Given the description of an element on the screen output the (x, y) to click on. 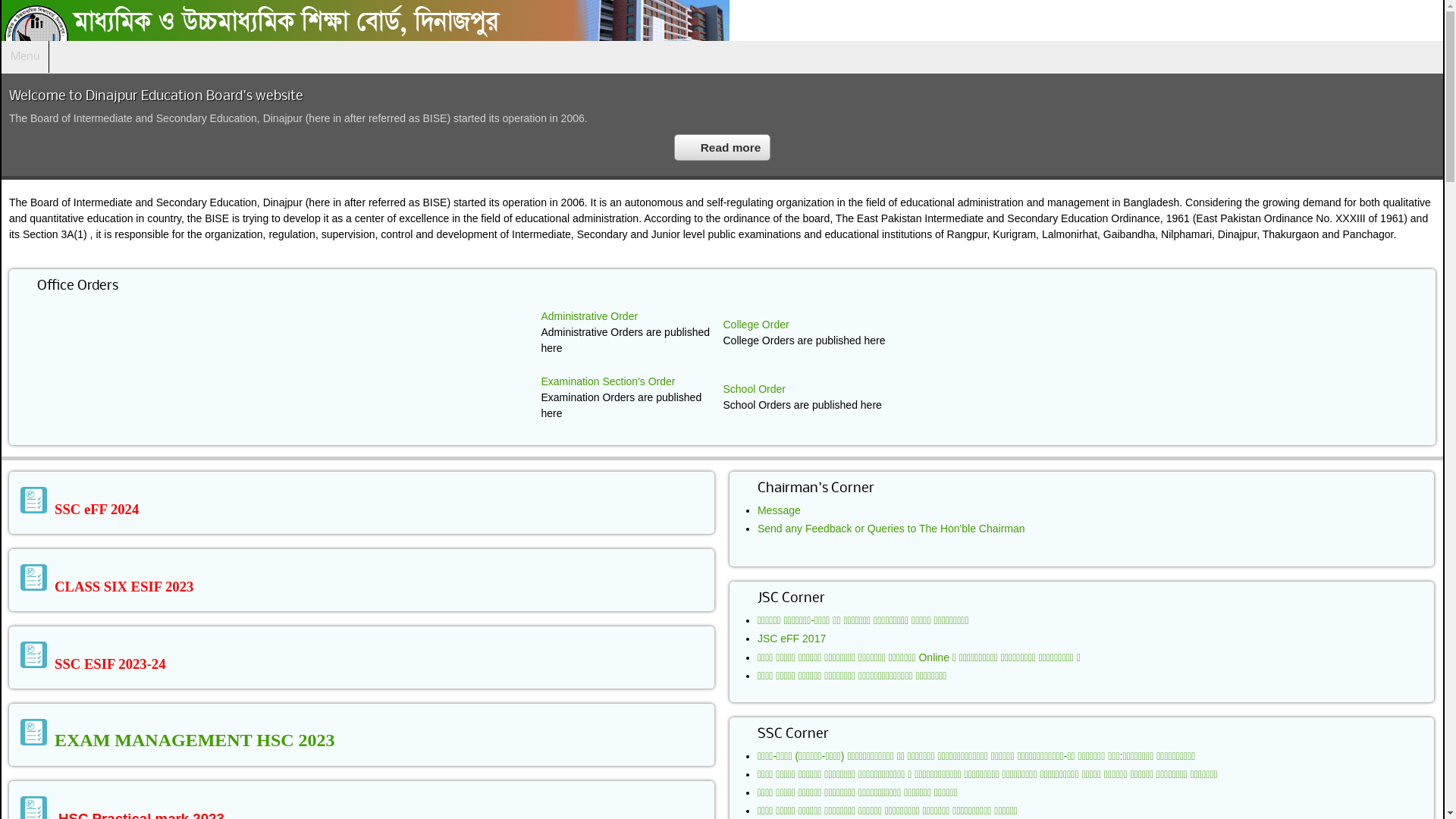
Read more Element type: text (722, 147)
Examination Section's Order Element type: text (608, 381)
              SSC eFF 2024 Element type: text (79, 510)
School Order Element type: text (754, 388)
Send any Feedback or Queries to The Hon'ble Chairman Element type: text (891, 528)
JSC eFF 2017 Element type: text (791, 638)
Message Element type: text (778, 510)
College Order Element type: text (756, 324)
              CLASS SIX ESIF 2023 Element type: text (106, 587)
Administrative Order Element type: text (589, 316)
              SSC ESIF 2023-24 Element type: text (93, 664)
              EXAM MANAGEMENT HSC 2023 Element type: text (177, 742)
